Given the description of an element on the screen output the (x, y) to click on. 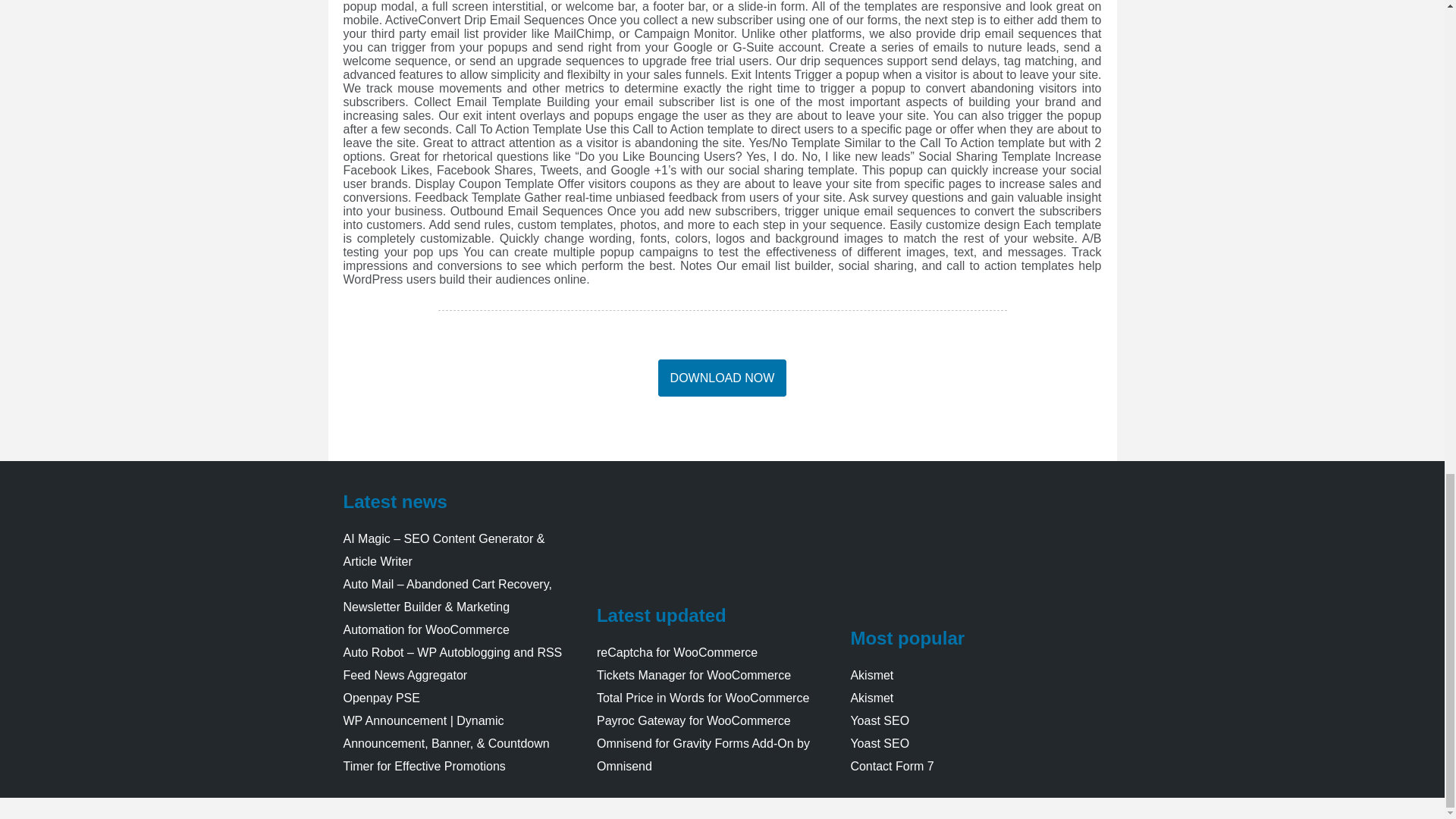
Contact Form 7 (891, 766)
Akismet (871, 697)
reCaptcha for WooCommerce (676, 652)
Yoast SEO (879, 720)
Omnisend for Gravity Forms Add-On by Omnisend (702, 755)
Openpay PSE (380, 697)
Total Price in Words for WooCommerce (702, 697)
Akismet (871, 675)
Payroc Gateway for WooCommerce (693, 720)
Openpay PSE (380, 697)
DOWNLOAD NOW (722, 377)
Yoast SEO (879, 743)
Tickets Manager for WooCommerce (693, 675)
